Given the description of an element on the screen output the (x, y) to click on. 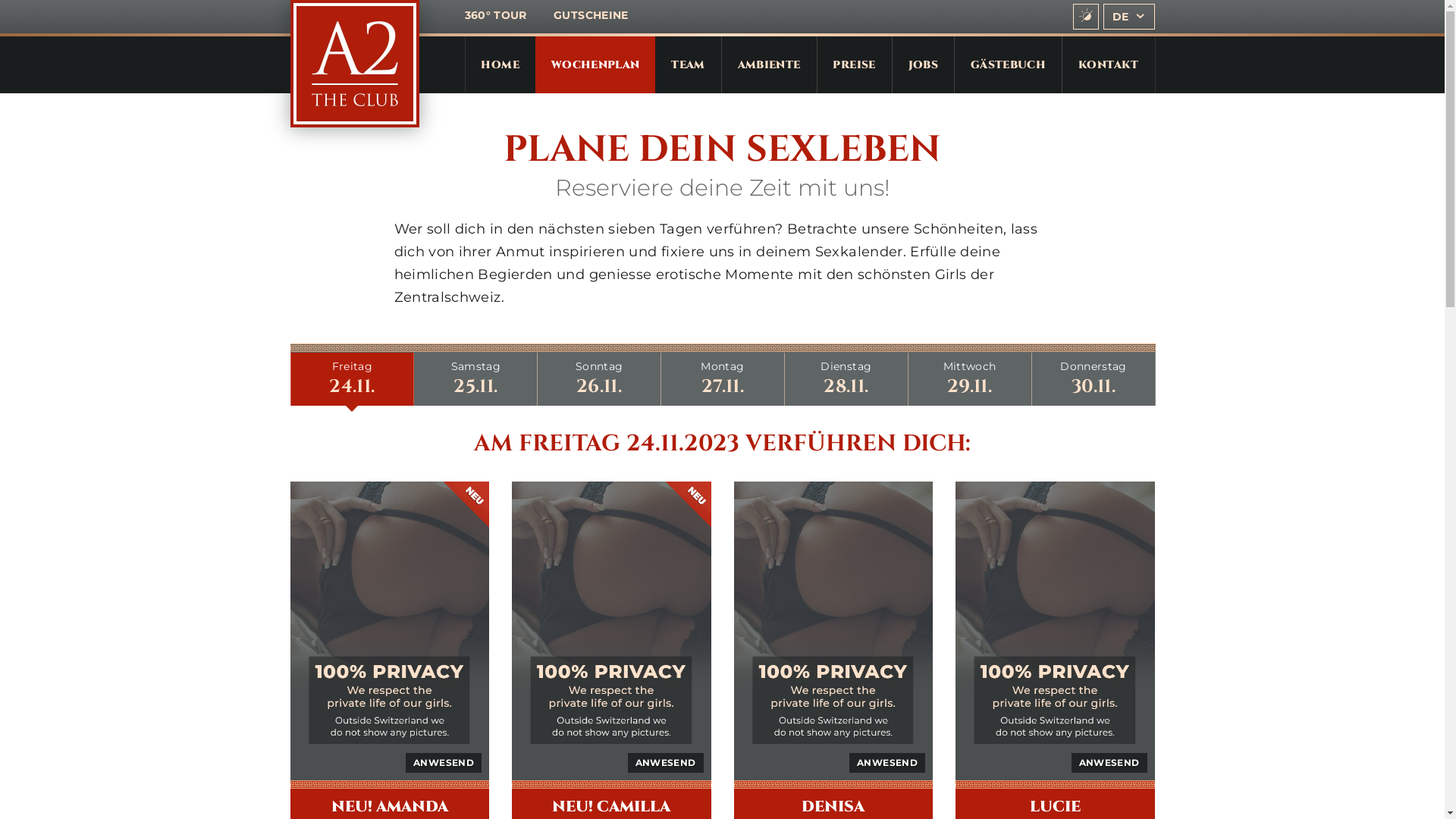
TEAM Element type: text (687, 64)
Tag / Nacht Modus Element type: hover (1085, 16)
Donnerstag
30.11. Element type: text (1093, 378)
AMBIENTE Element type: text (769, 64)
HOME Element type: text (499, 64)
Mittwoch
29.11. Element type: text (969, 378)
GUTSCHEINE Element type: text (590, 15)
Samstag
25.11. Element type: text (475, 378)
JOBS Element type: text (922, 64)
Montag
27.11. Element type: text (722, 378)
WOCHENPLAN Element type: text (595, 64)
Freitag
24.11. Element type: text (351, 378)
Sonntag
26.11. Element type: text (598, 378)
KONTAKT Element type: text (1107, 64)
PREISE Element type: text (854, 64)
Dienstag
28.11. Element type: text (846, 378)
